Given the description of an element on the screen output the (x, y) to click on. 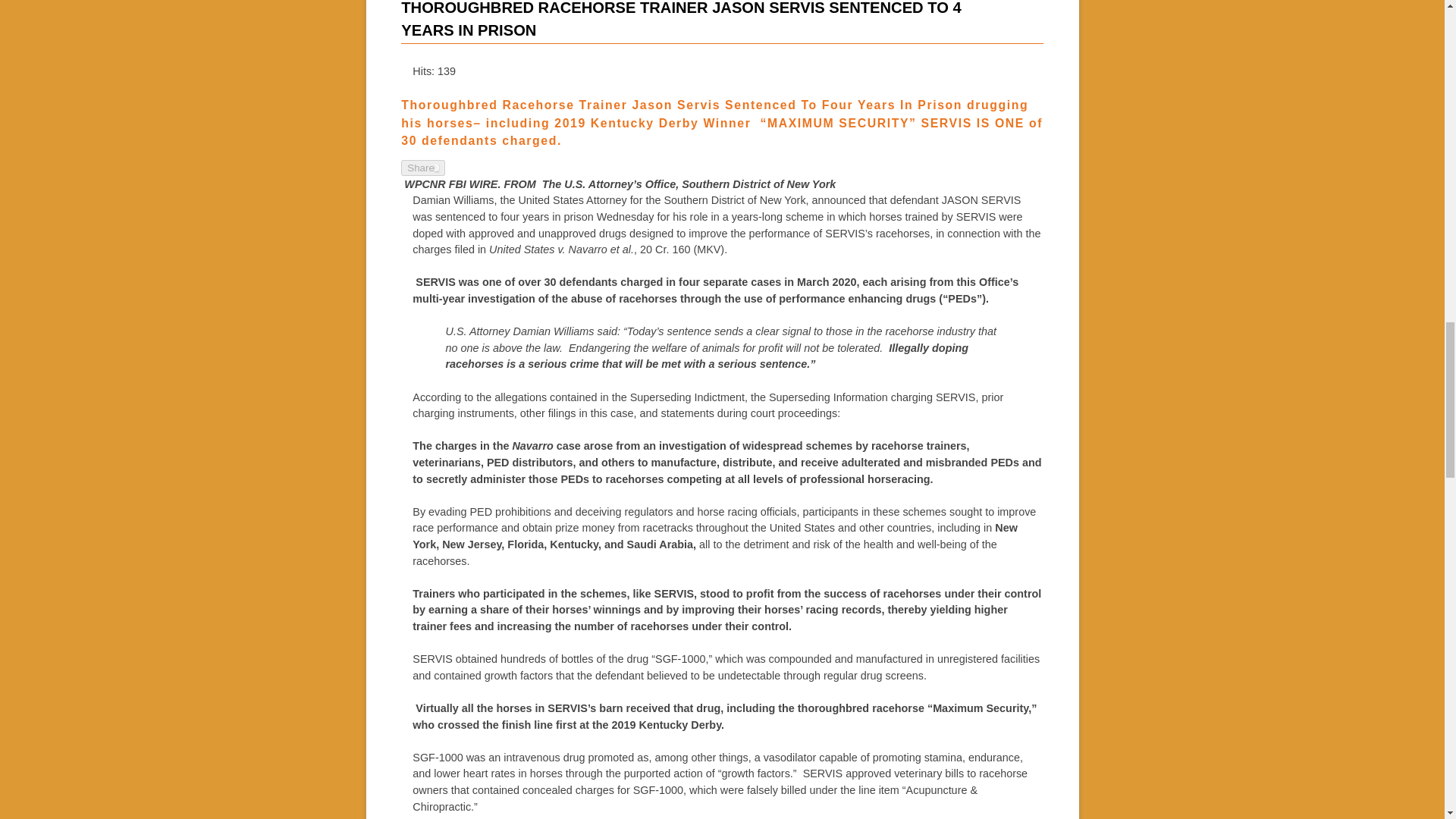
Share (423, 167)
